Given the description of an element on the screen output the (x, y) to click on. 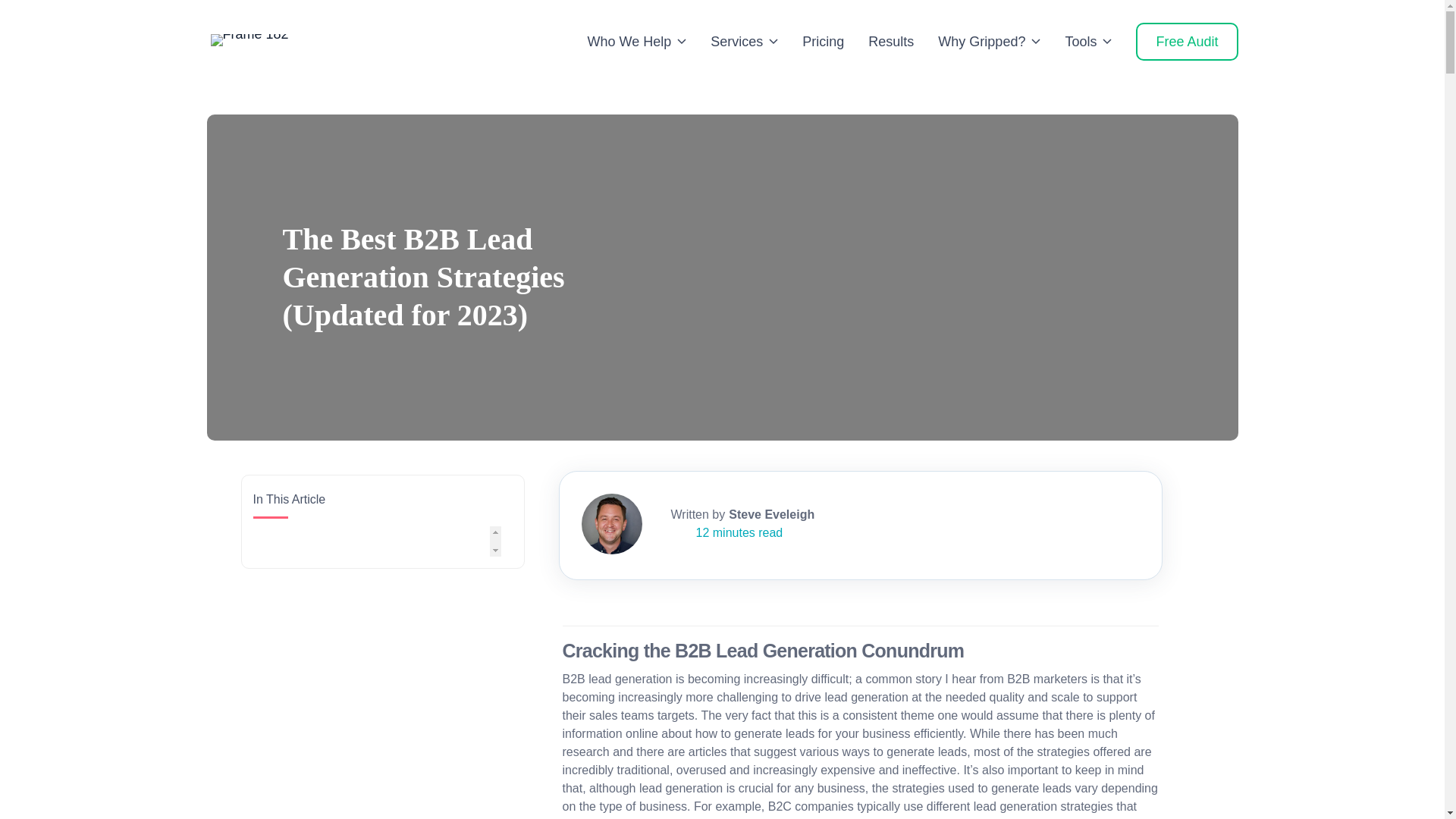
Free Audit (1186, 41)
Steve Eveleigh (741, 514)
Frame 182 (249, 39)
In This Article (382, 521)
Services (743, 41)
Tools (1088, 41)
Who We Help (637, 41)
12 minutes read (713, 533)
Why Gripped? (989, 41)
Pricing (823, 41)
